Given the description of an element on the screen output the (x, y) to click on. 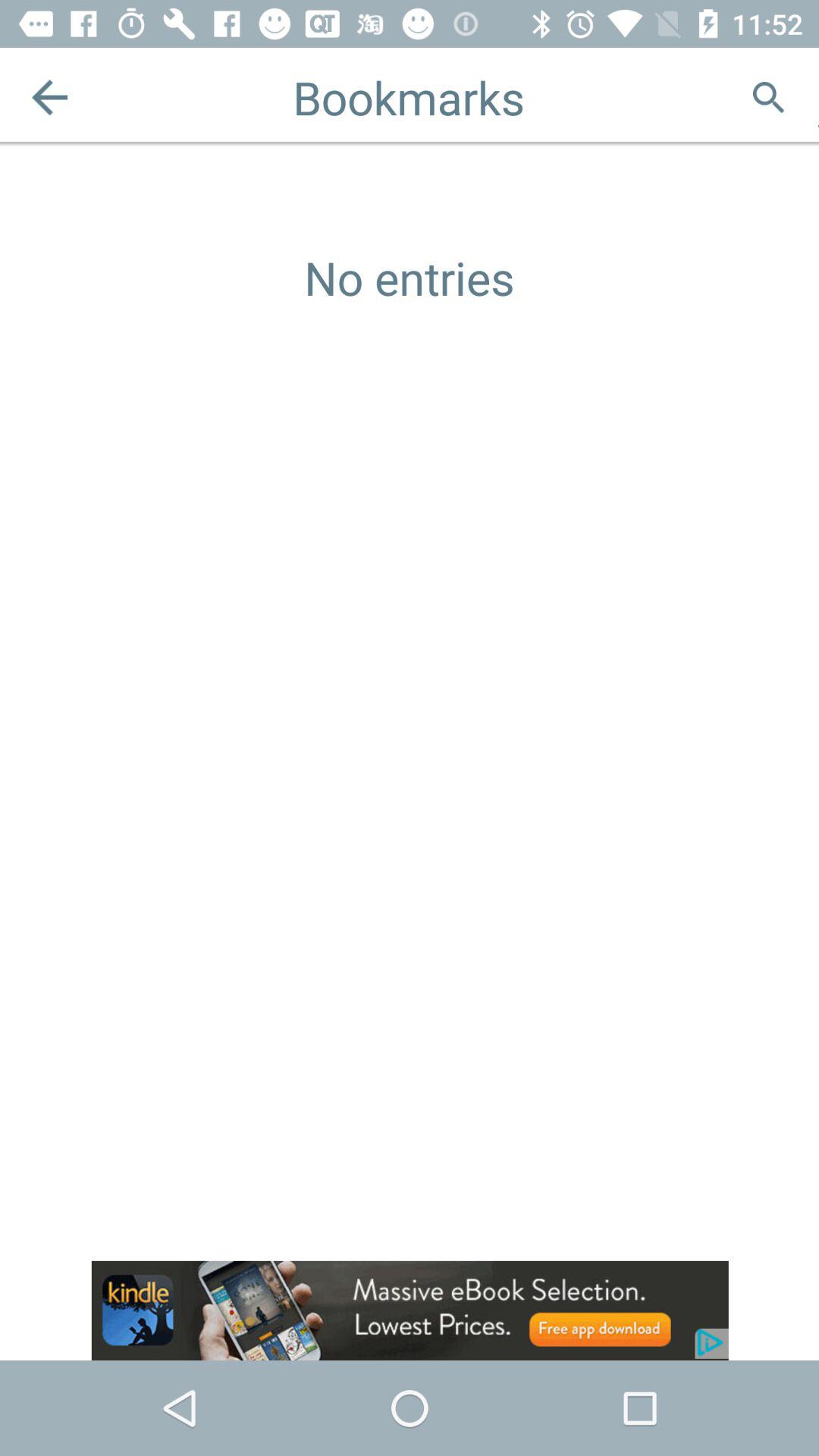
search (768, 97)
